Given the description of an element on the screen output the (x, y) to click on. 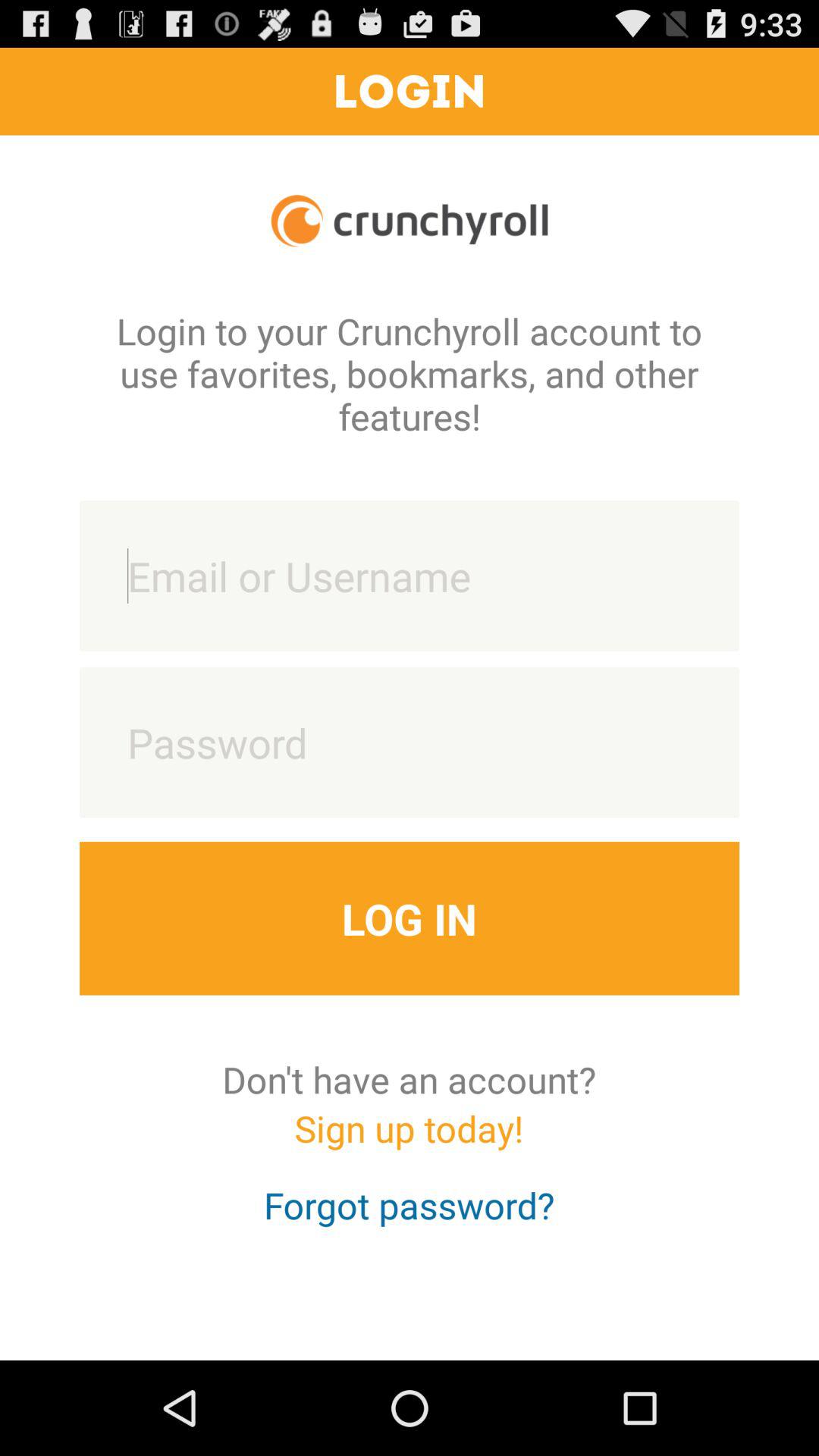
enter email or username (409, 575)
